Given the description of an element on the screen output the (x, y) to click on. 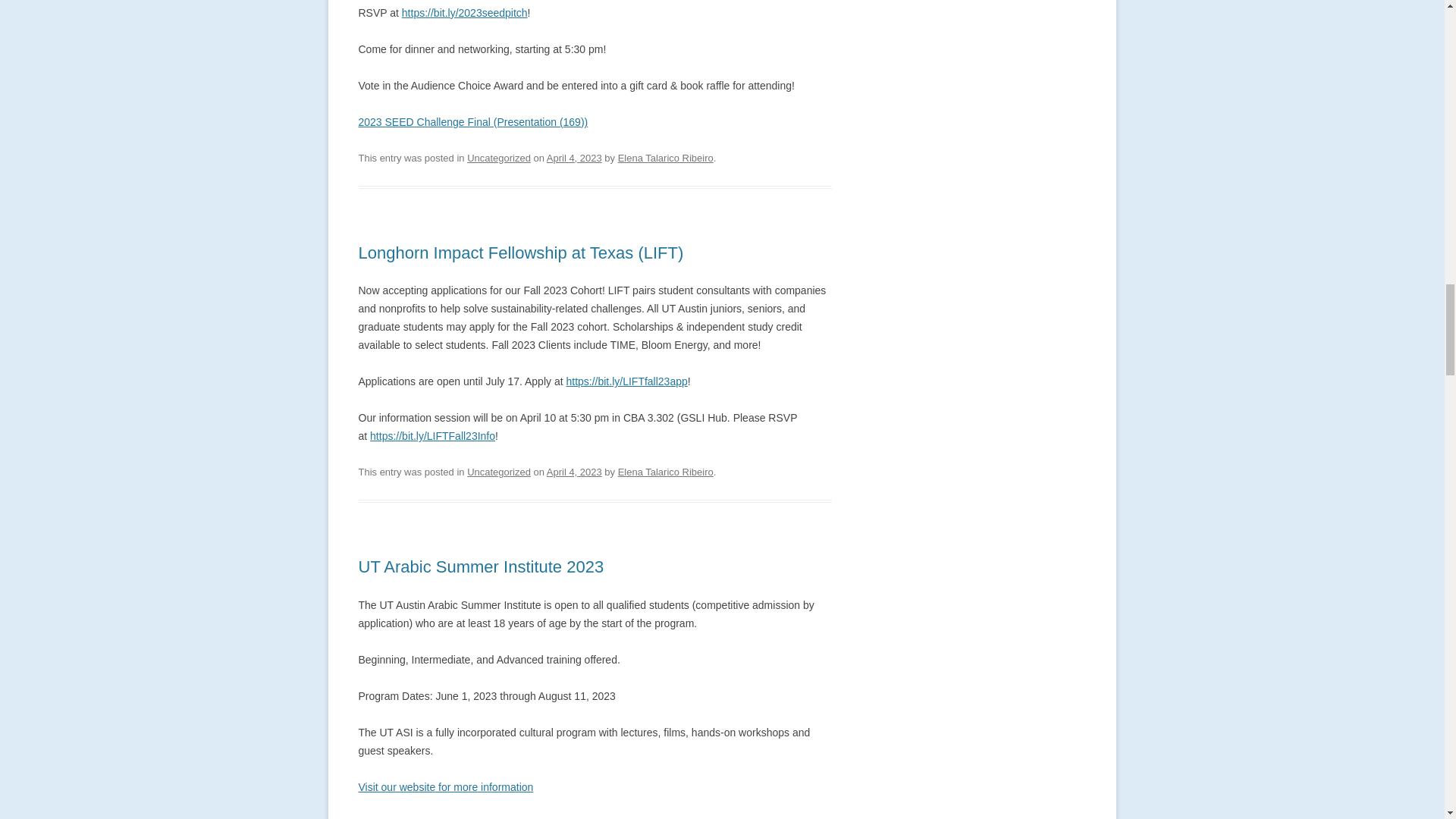
April 4, 2023 (574, 157)
Elena Talarico Ribeiro (665, 157)
Uncategorized (499, 157)
11:15 am (574, 157)
View all posts by Elena Talarico Ribeiro (665, 157)
